Given the description of an element on the screen output the (x, y) to click on. 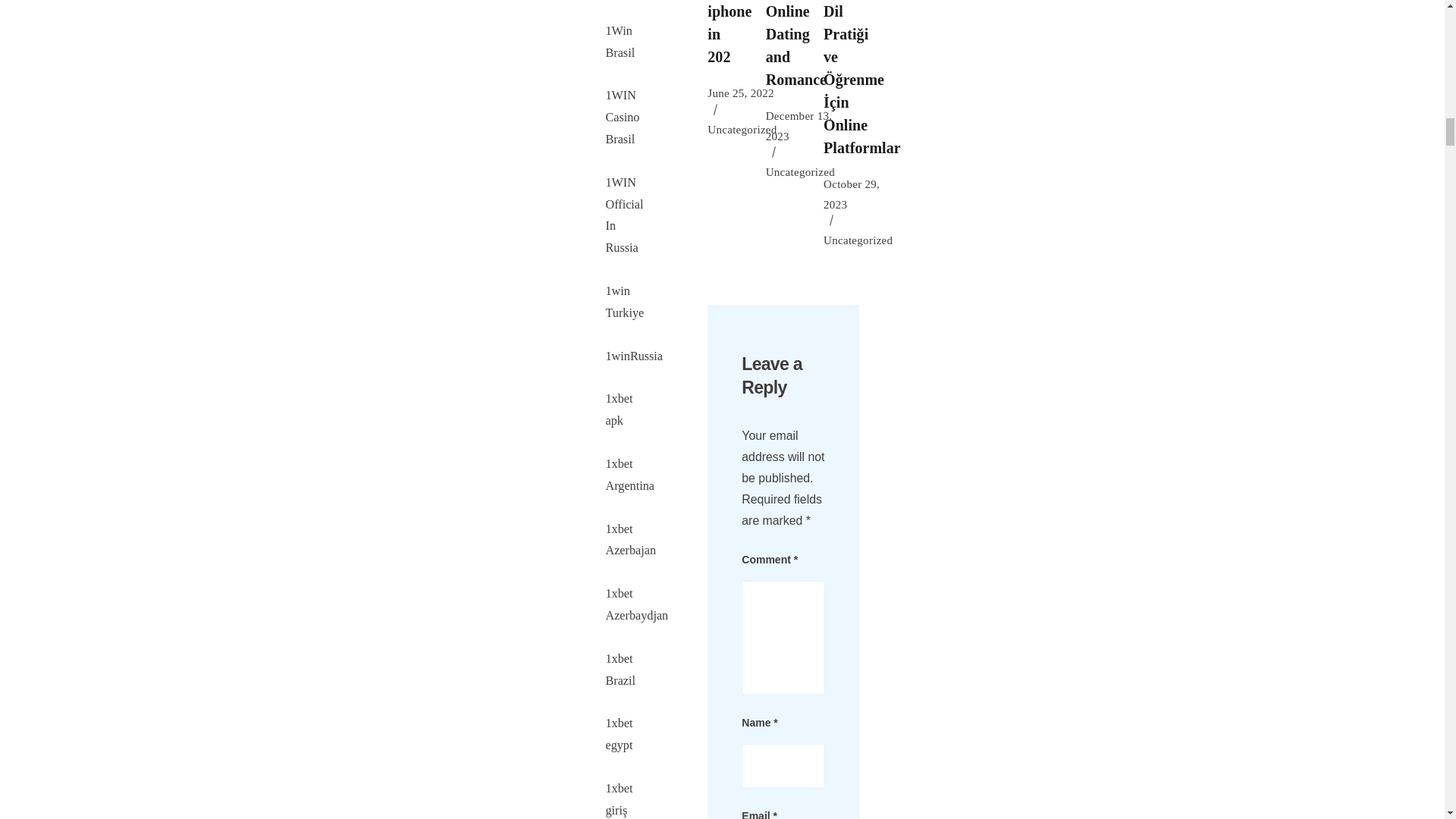
Uncategorized (741, 129)
Uncategorized (799, 172)
Uncategorized (858, 240)
